Given the description of an element on the screen output the (x, y) to click on. 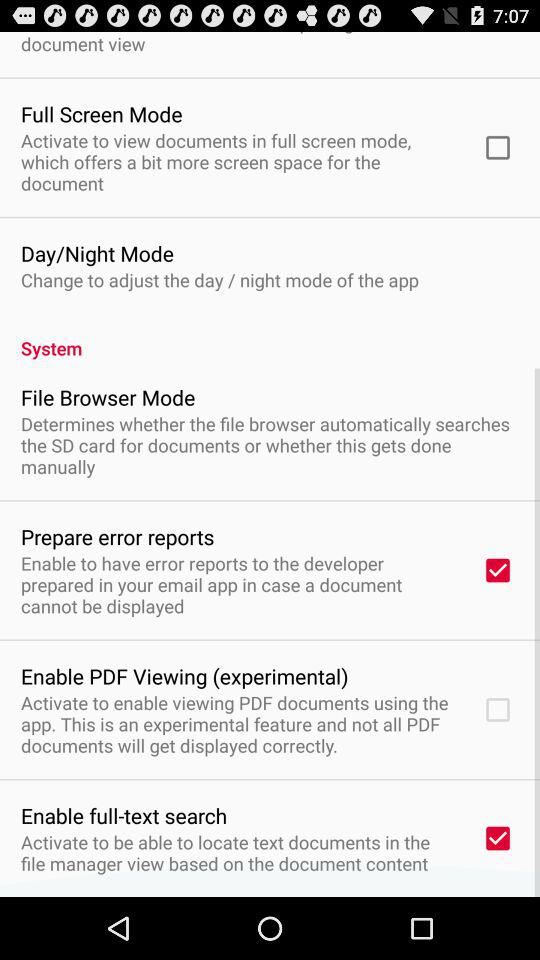
flip to change to adjust item (219, 279)
